Given the description of an element on the screen output the (x, y) to click on. 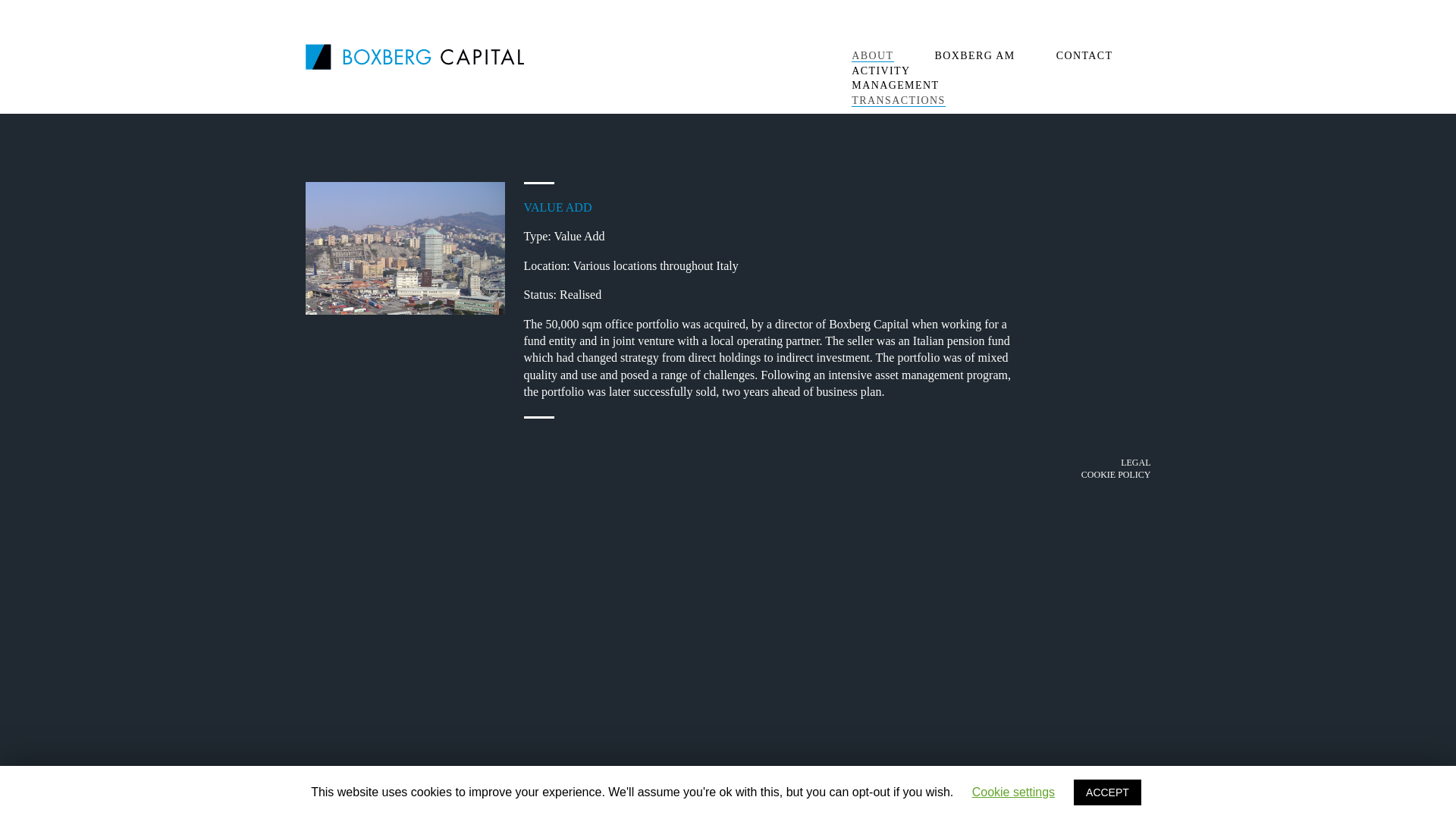
COOKIE POLICY (1116, 474)
LEGAL (1135, 462)
ACTIVITY (880, 70)
CONTACT (1085, 55)
ABOUT (872, 55)
Home (413, 55)
MANAGEMENT (895, 84)
TRANSACTIONS (897, 101)
BOXBERG AM (974, 55)
